Given the description of an element on the screen output the (x, y) to click on. 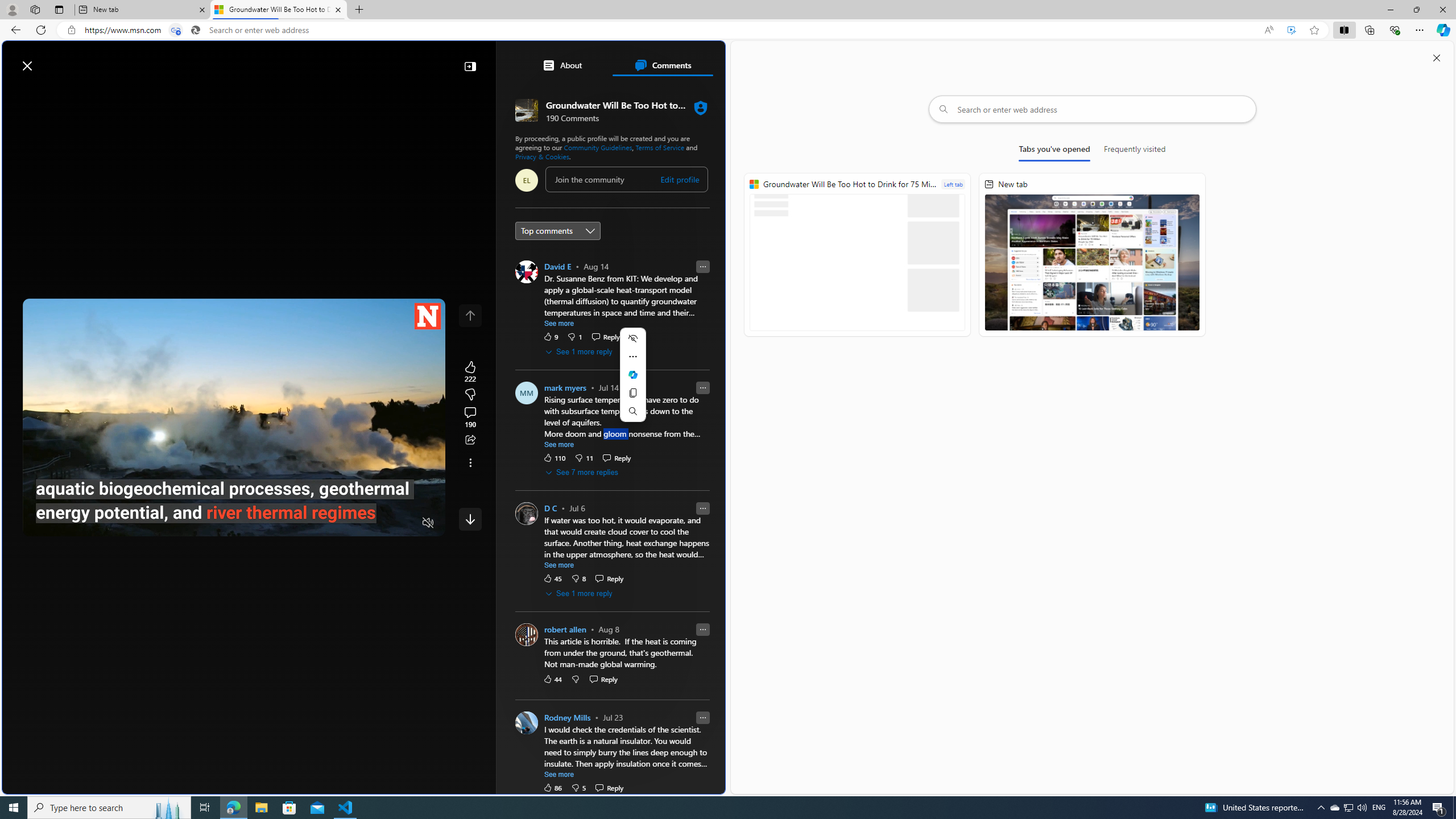
Class: button-glyph (16, 92)
Unmute (427, 523)
Close split screen (1436, 57)
Captions (383, 523)
Enter your search term (366, 59)
